Given the description of an element on the screen output the (x, y) to click on. 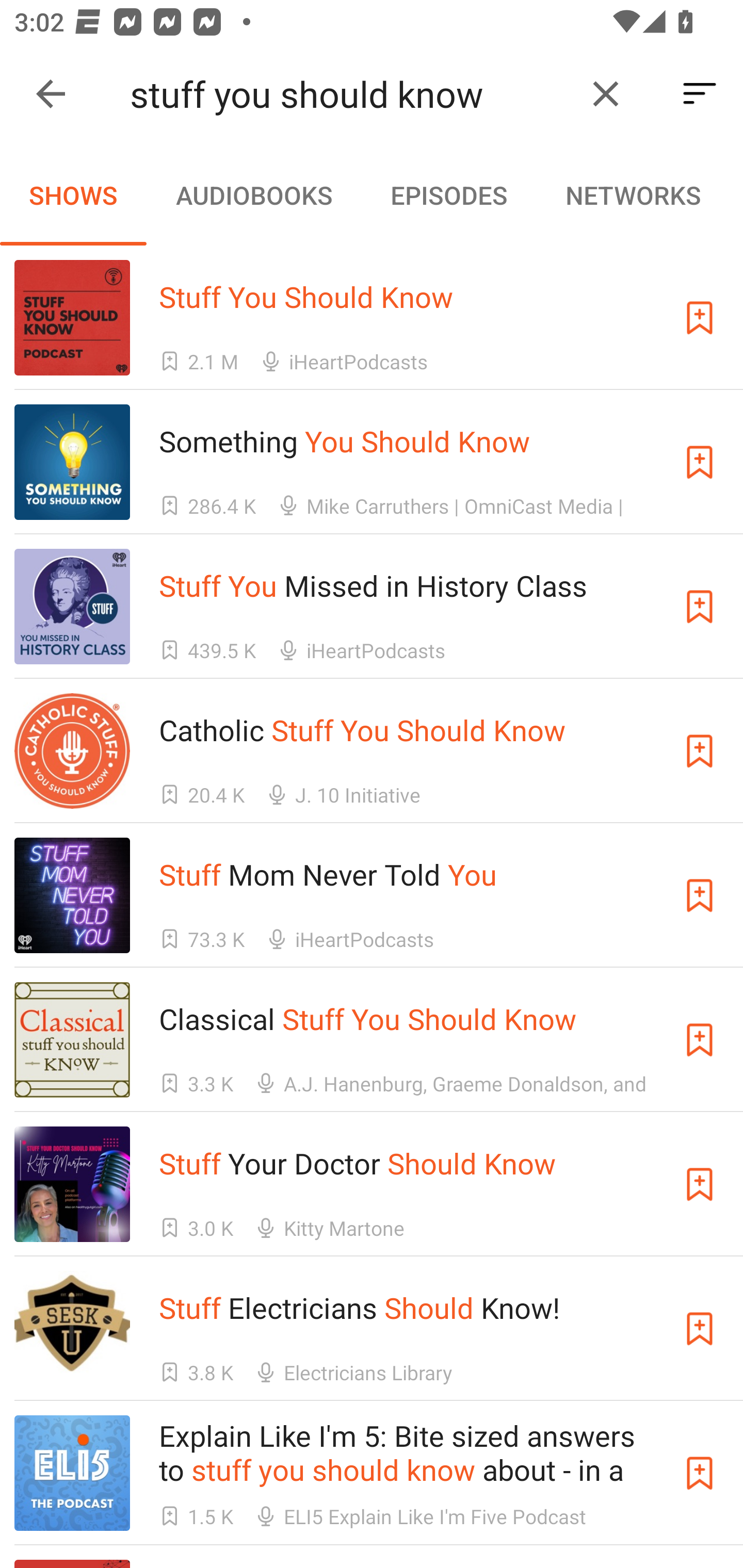
Collapse (50, 93)
Clear query (605, 93)
Sort By (699, 93)
stuff you should know (349, 94)
SHOWS (73, 195)
AUDIOBOOKS (253, 195)
EPISODES (448, 195)
NETWORKS (632, 195)
Subscribe (699, 317)
Subscribe (699, 462)
Subscribe (699, 606)
Subscribe (699, 751)
Subscribe (699, 895)
Subscribe (699, 1039)
Subscribe (699, 1183)
Subscribe (699, 1328)
Subscribe (699, 1472)
